Given the description of an element on the screen output the (x, y) to click on. 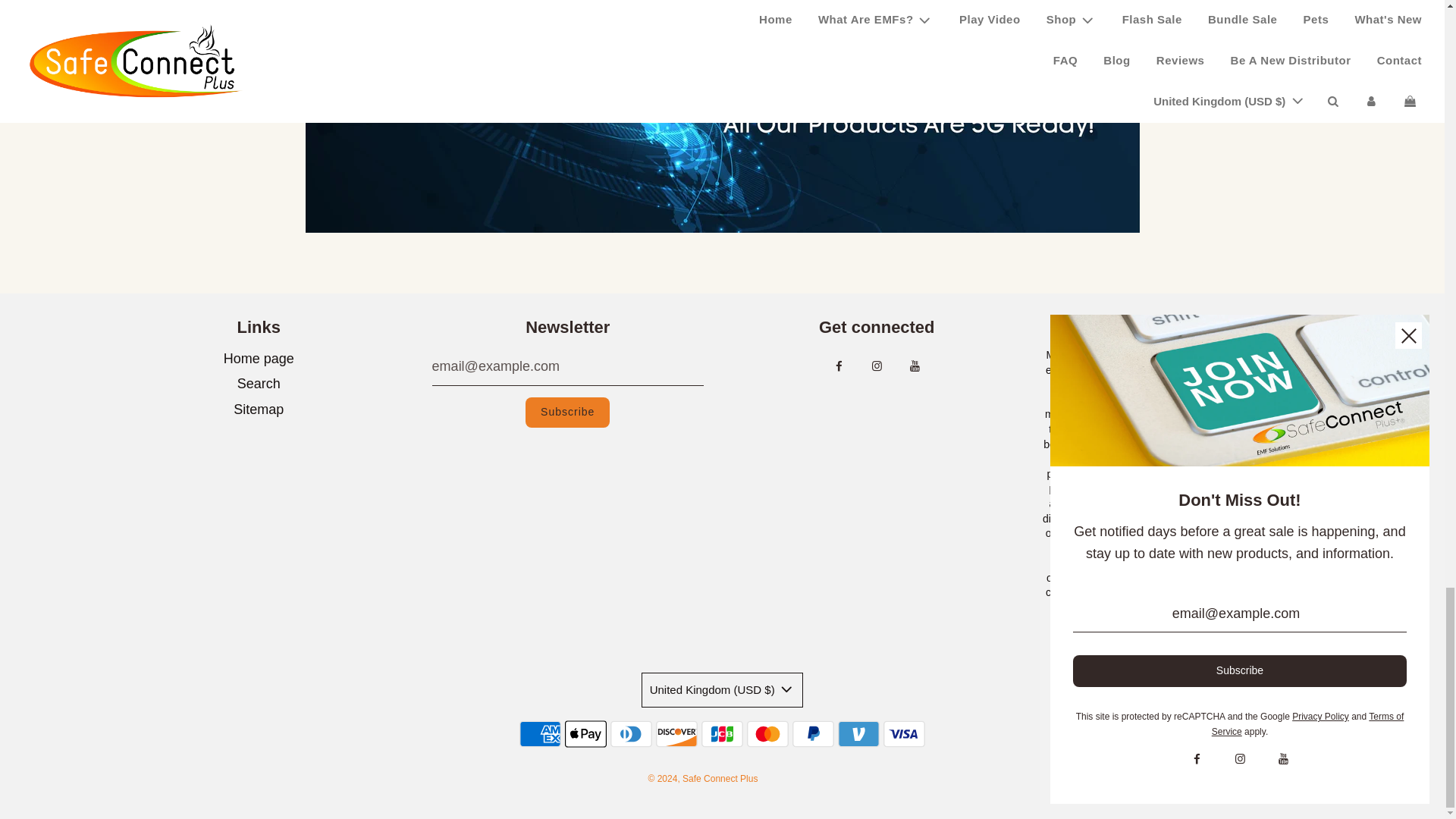
JCB (721, 734)
Subscribe (567, 412)
PayPal (813, 734)
Apple Pay (585, 734)
Mastercard (767, 734)
American Express (539, 734)
Venmo (858, 734)
Discover (676, 734)
Diners Club (631, 734)
Visa (903, 734)
